Given the description of an element on the screen output the (x, y) to click on. 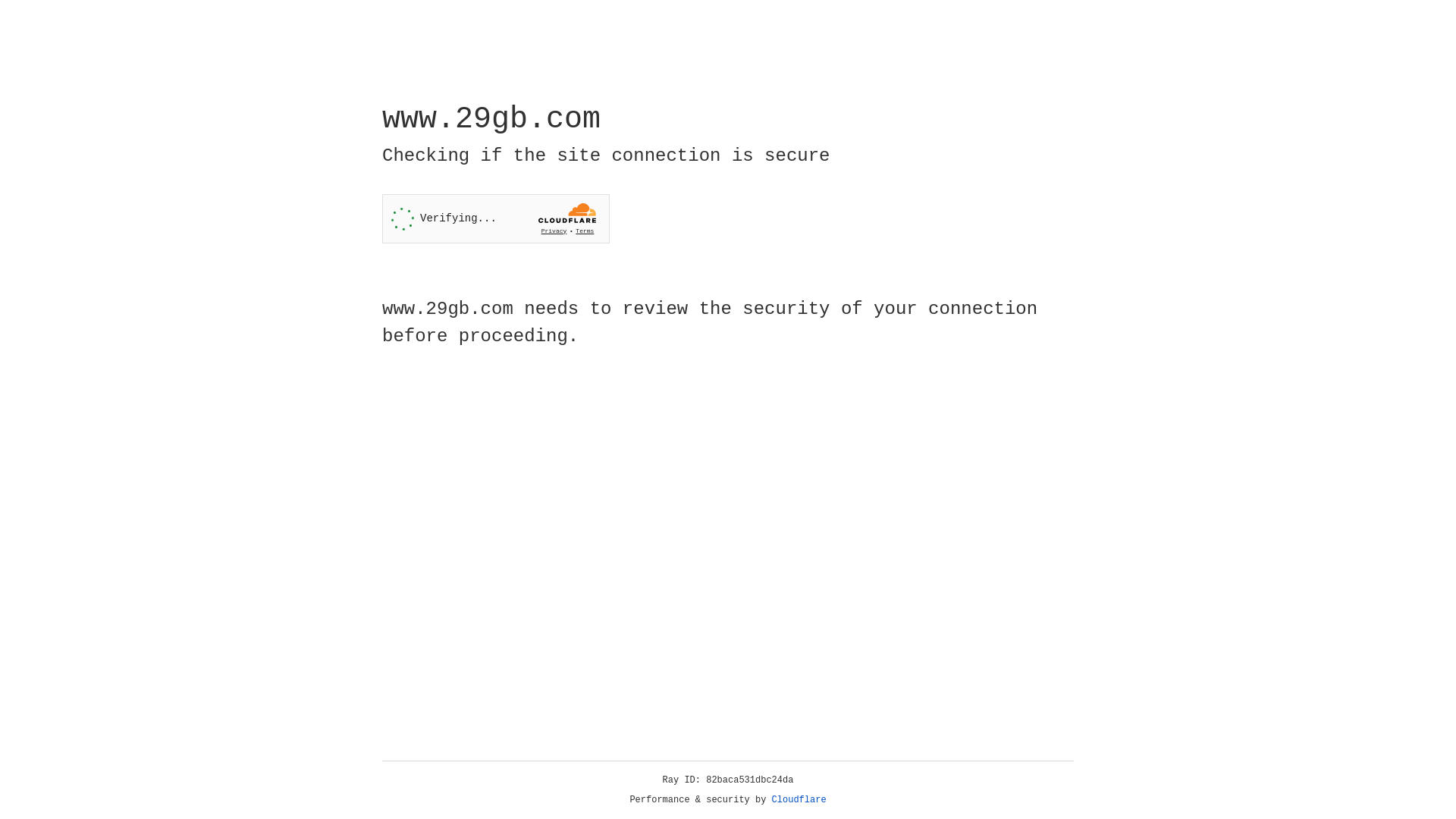
Widget containing a Cloudflare security challenge Element type: hover (495, 218)
Cloudflare Element type: text (798, 799)
